Given the description of an element on the screen output the (x, y) to click on. 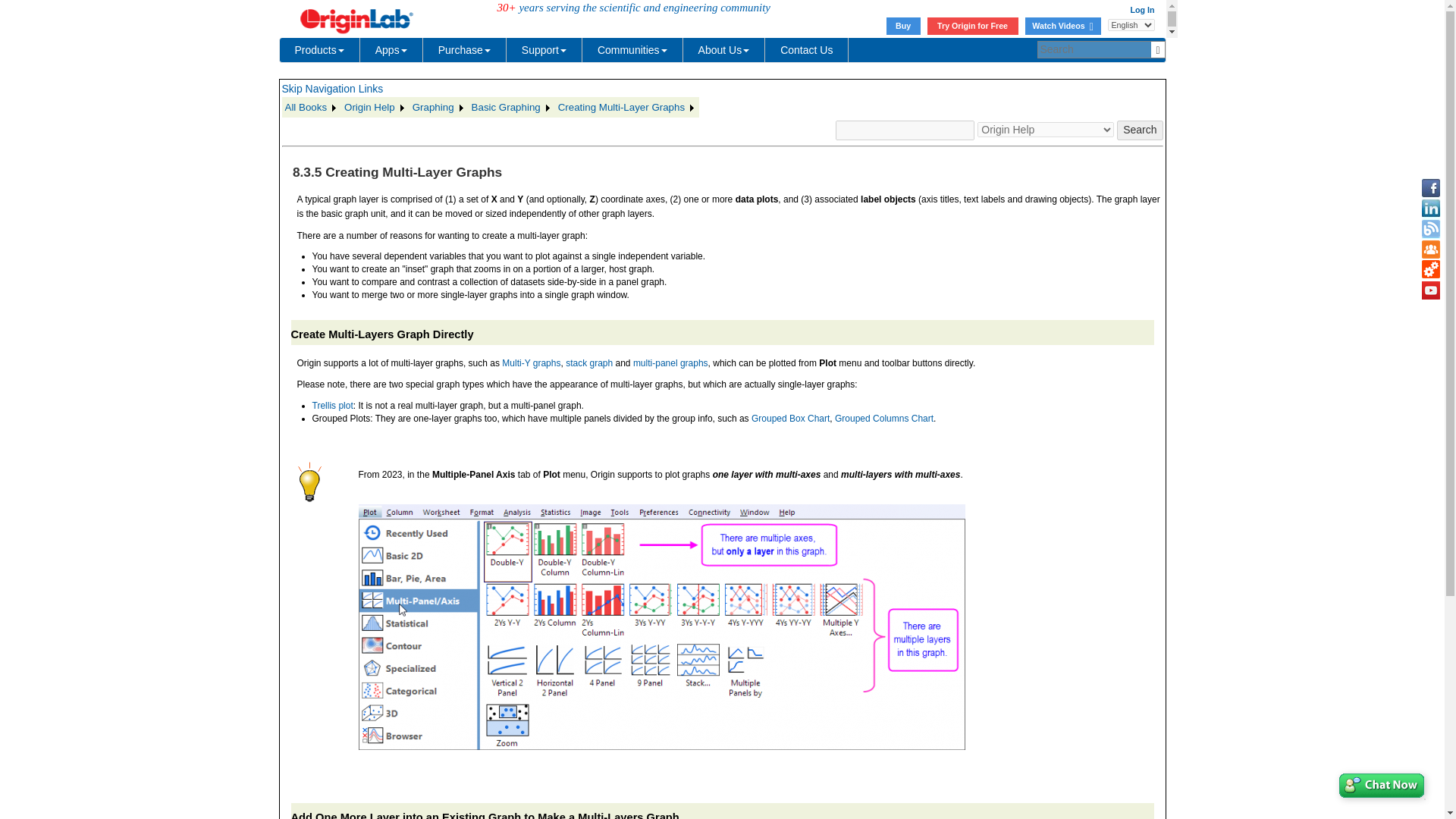
Basic Graphing (511, 107)
Search (1138, 130)
Try Origin for Free (972, 26)
Creating Multi-Layer Graphs (626, 107)
Watch Videos  (1062, 26)
Origin Help (374, 107)
Log In (1142, 9)
Facebook (1431, 188)
LinkedIn (1431, 208)
Buy Now (903, 26)
Forum (1431, 249)
Youtube (1431, 290)
All Books (312, 107)
Graphing (438, 107)
Blog (1431, 229)
